Given the description of an element on the screen output the (x, y) to click on. 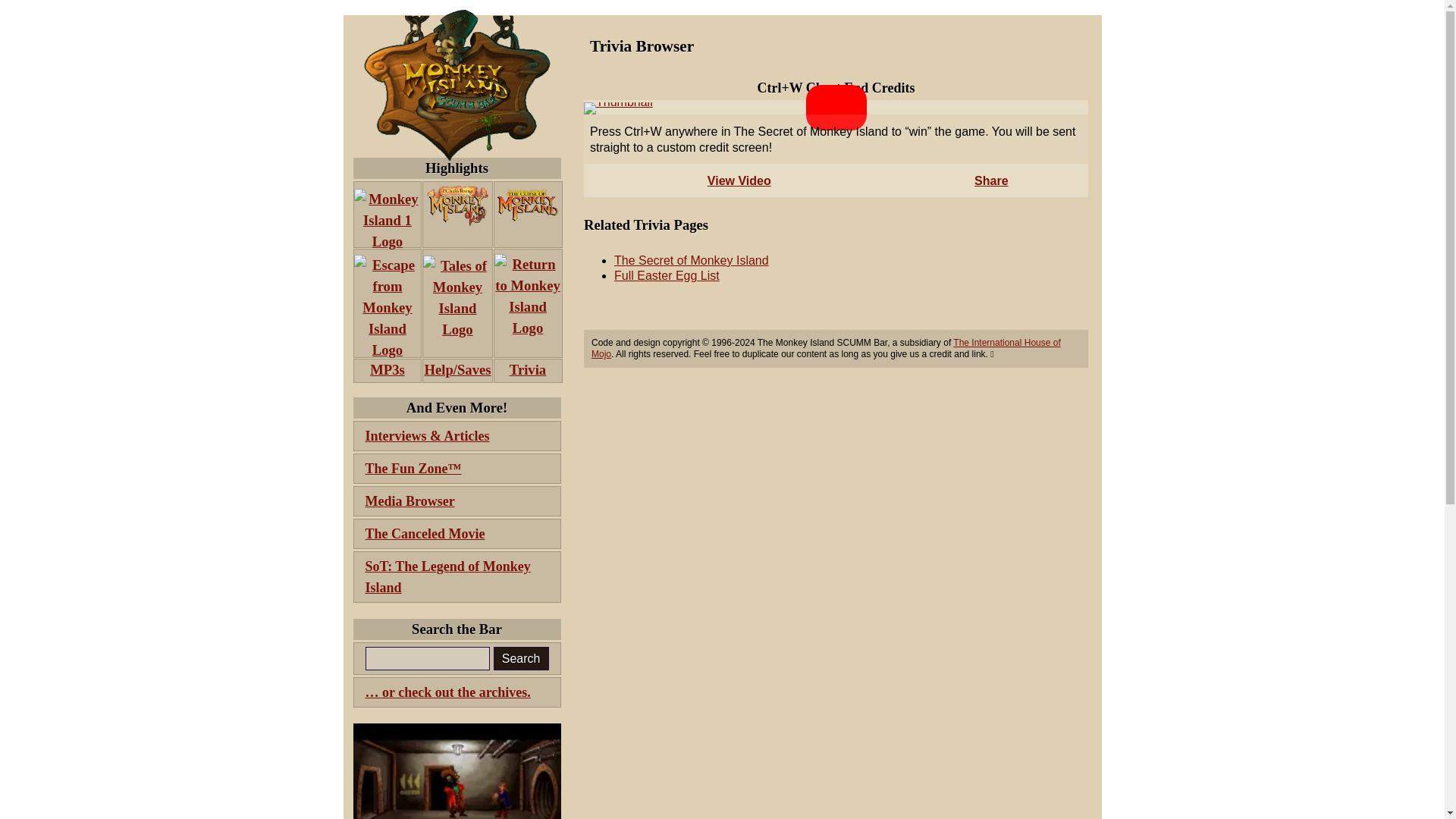
View Video (739, 180)
Search (520, 658)
Trivia (527, 370)
Media Browser (456, 501)
The International House of Mojo (826, 348)
Full Easter Egg List (666, 275)
MP3s (387, 370)
Share (990, 180)
The Secret of Monkey Island (691, 259)
The Canceled Movie (456, 533)
